Given the description of an element on the screen output the (x, y) to click on. 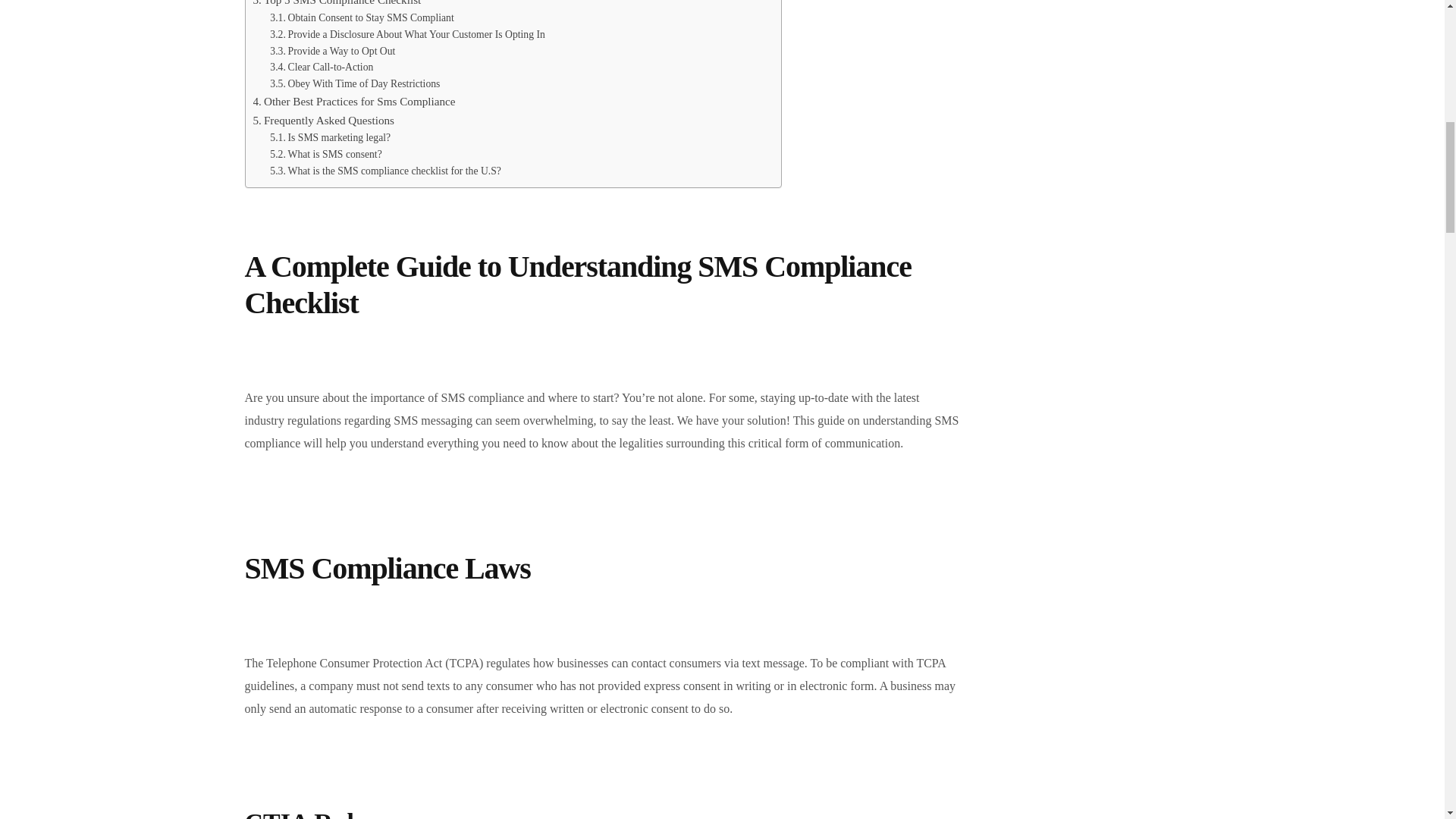
Frequently Asked Questions (323, 120)
What is the SMS compliance checklist for the U.S? (384, 170)
Provide a Disclosure About What Your Customer Is Opting In (406, 34)
Obtain Consent to Stay SMS Compliant (360, 17)
Other Best Practices for Sms Compliance (354, 101)
Top 5 SMS Compliance Checklist (337, 4)
Is SMS marketing legal? (329, 137)
Obtain Consent to Stay SMS Compliant (360, 17)
Clear Call-to-Action (320, 67)
Obey With Time of Day Restrictions (354, 84)
Obey With Time of Day Restrictions (354, 84)
Provide a Disclosure About What Your Customer Is Opting In (406, 34)
Other Best Practices for Sms Compliance (354, 101)
Provide a Way to Opt Out (331, 51)
Is SMS marketing legal? (329, 137)
